Given the description of an element on the screen output the (x, y) to click on. 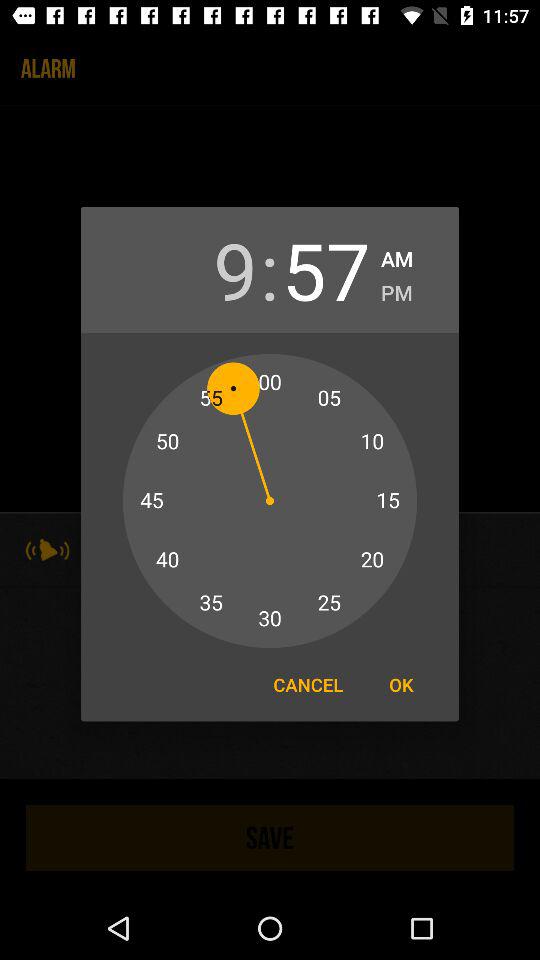
turn off the icon next to 57 icon (396, 289)
